Given the description of an element on the screen output the (x, y) to click on. 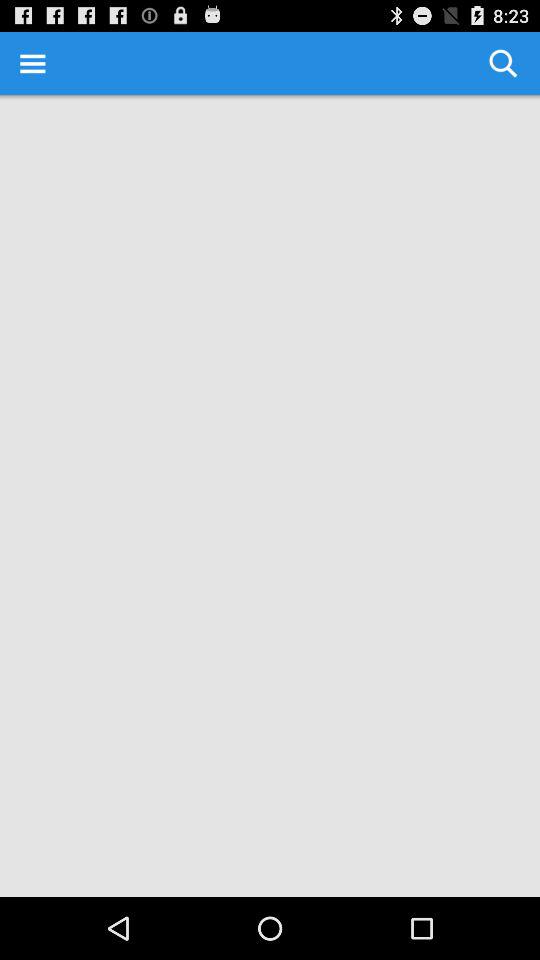
choose the item at the top right corner (503, 62)
